Given the description of an element on the screen output the (x, y) to click on. 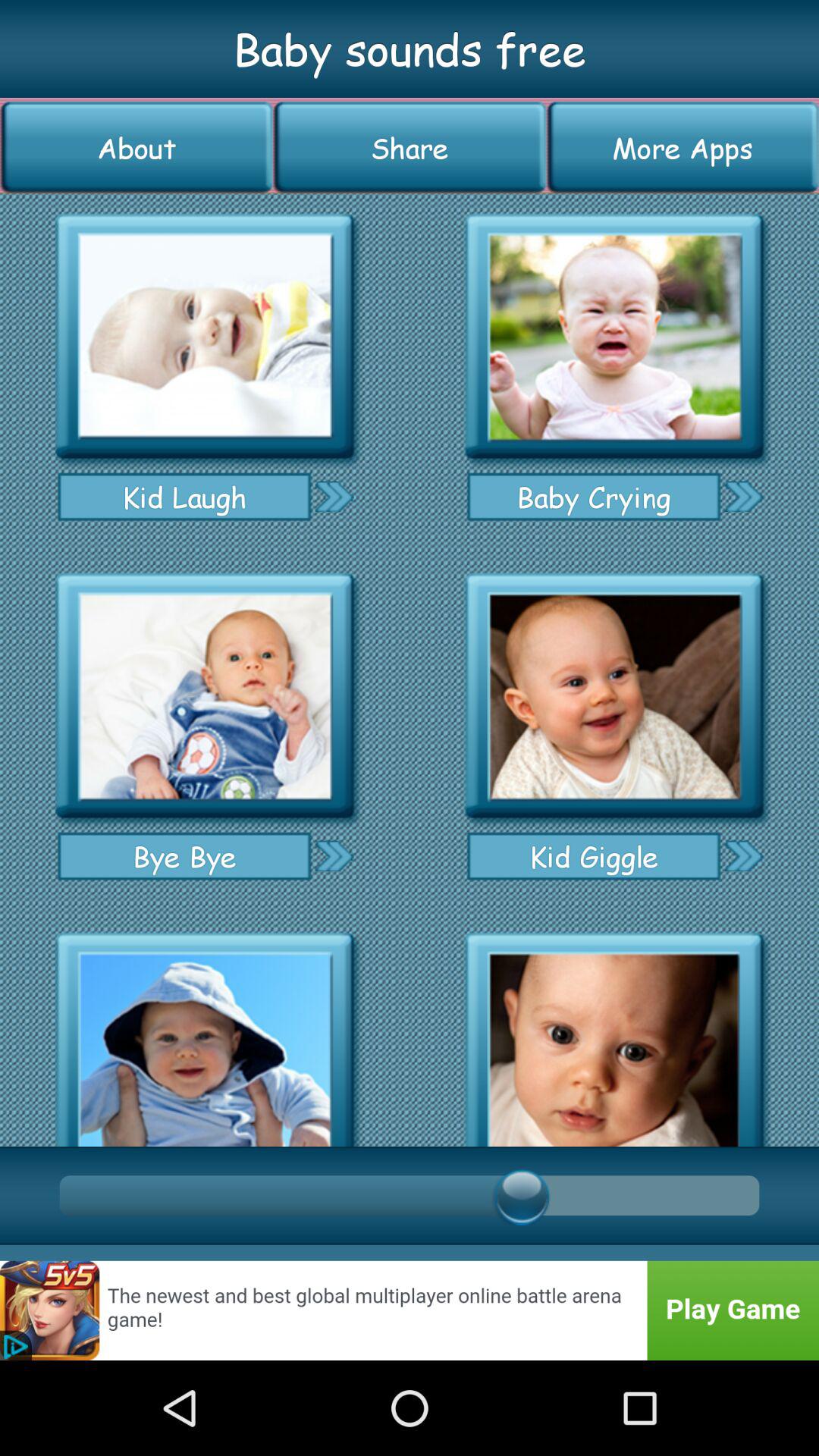
next sound (743, 855)
